Given the description of an element on the screen output the (x, y) to click on. 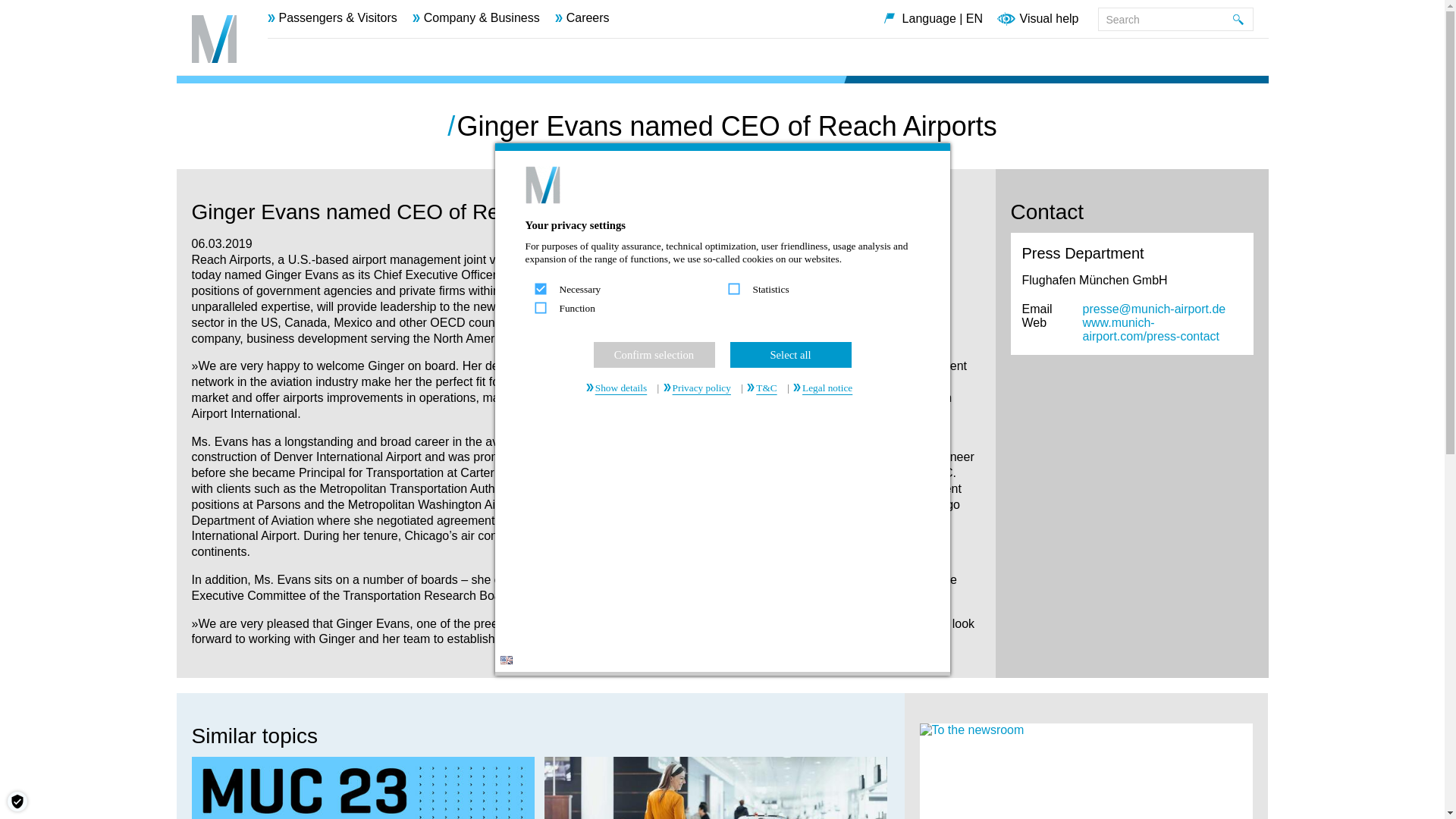
Privacy policy (700, 387)
Language: en (506, 660)
Select all (789, 354)
Confirm selection (653, 354)
Visual help (1048, 20)
Munich Airport logo (212, 39)
Legal notice (826, 387)
Purpose (721, 300)
Careers (582, 18)
Language: en (506, 659)
Show details (620, 387)
